Given the description of an element on the screen output the (x, y) to click on. 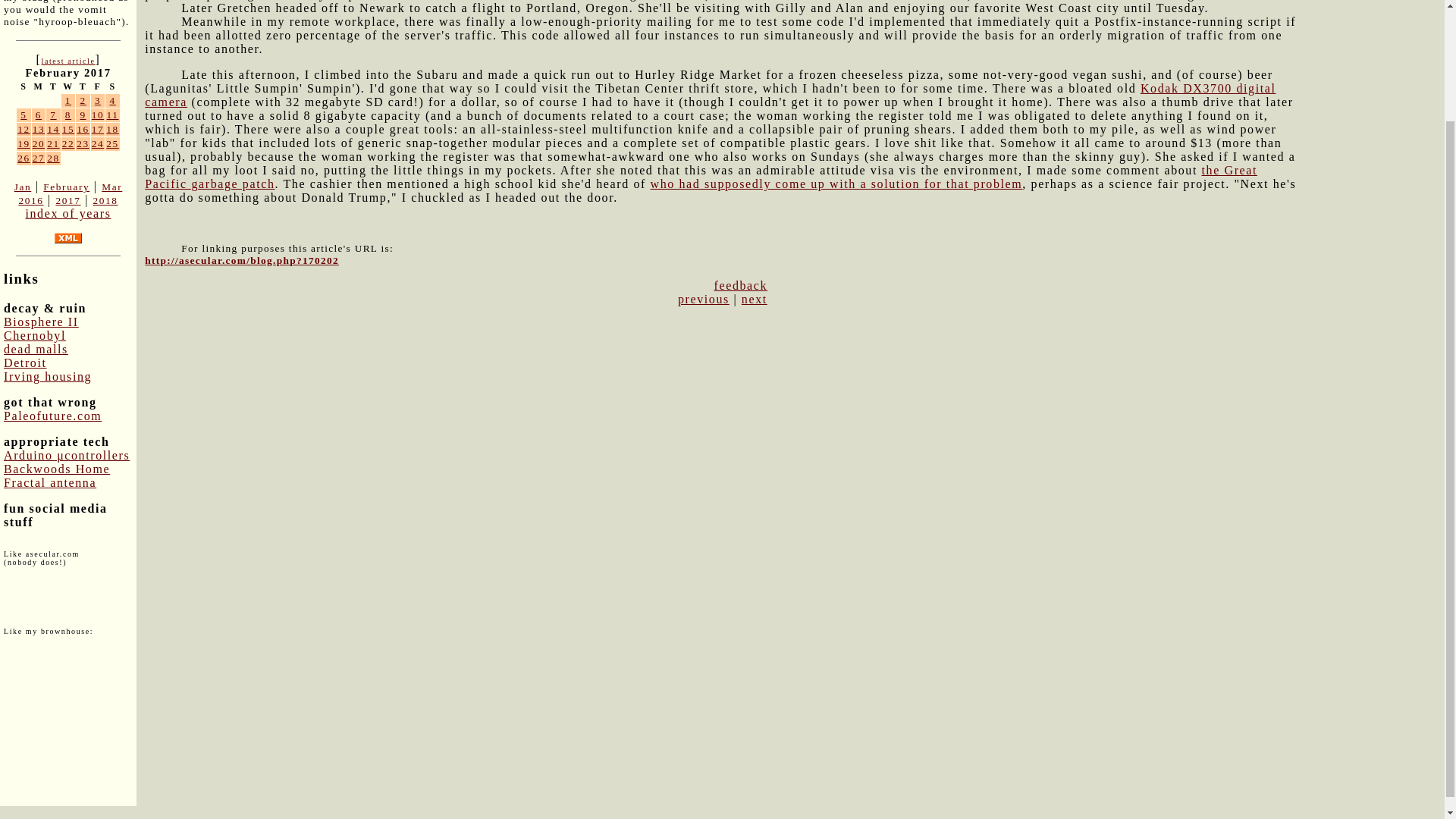
13 (38, 129)
17 (97, 129)
10 (97, 114)
14 (52, 129)
16 (82, 129)
20 (38, 143)
28 (52, 157)
15 (68, 129)
2018 (105, 200)
24 (97, 143)
Chernobyl (34, 335)
26 (23, 157)
latest article (67, 60)
Biosphere II (41, 321)
22 (68, 143)
